Given the description of an element on the screen output the (x, y) to click on. 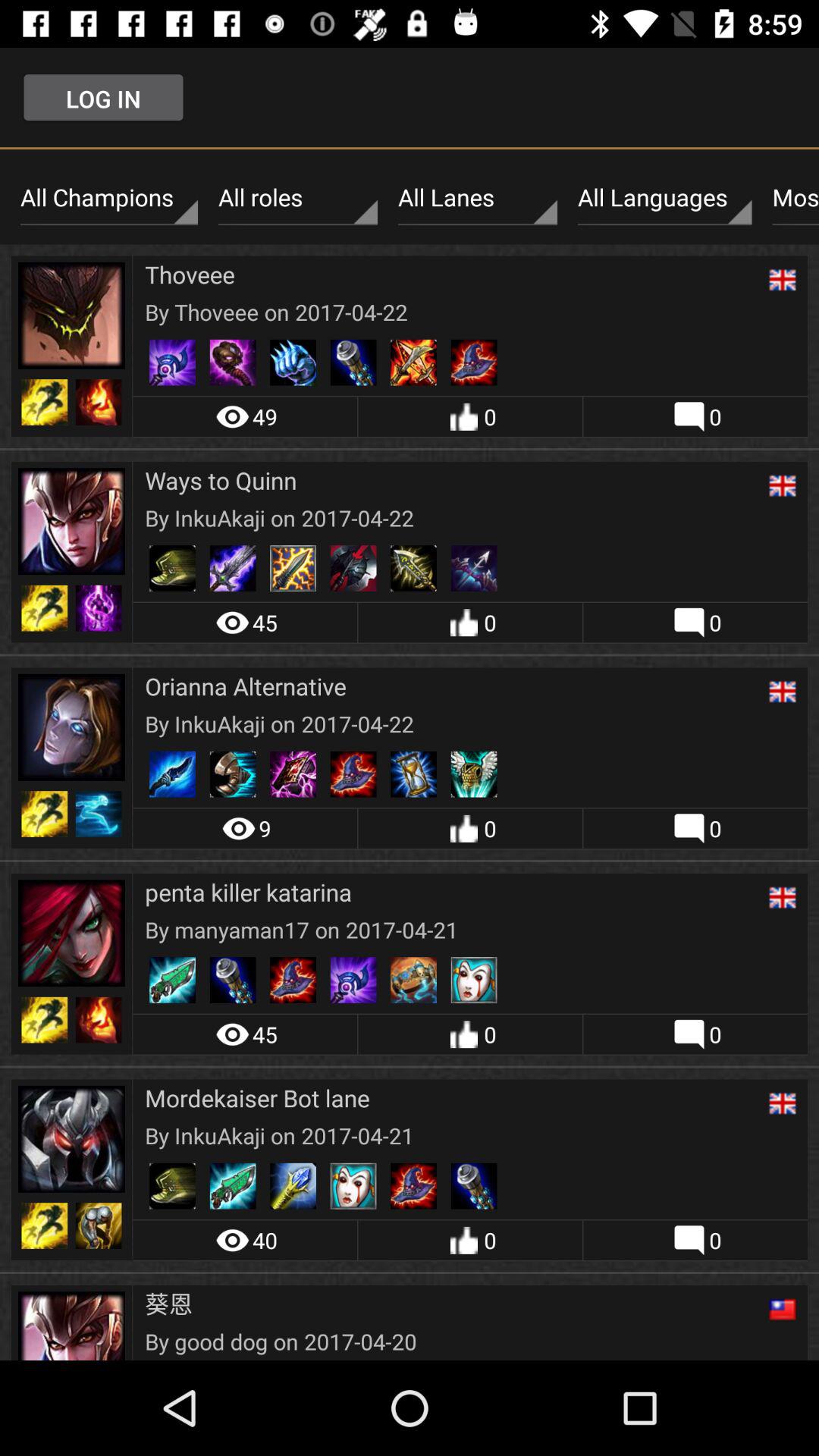
choose item to the left of the all roles icon (108, 198)
